Given the description of an element on the screen output the (x, y) to click on. 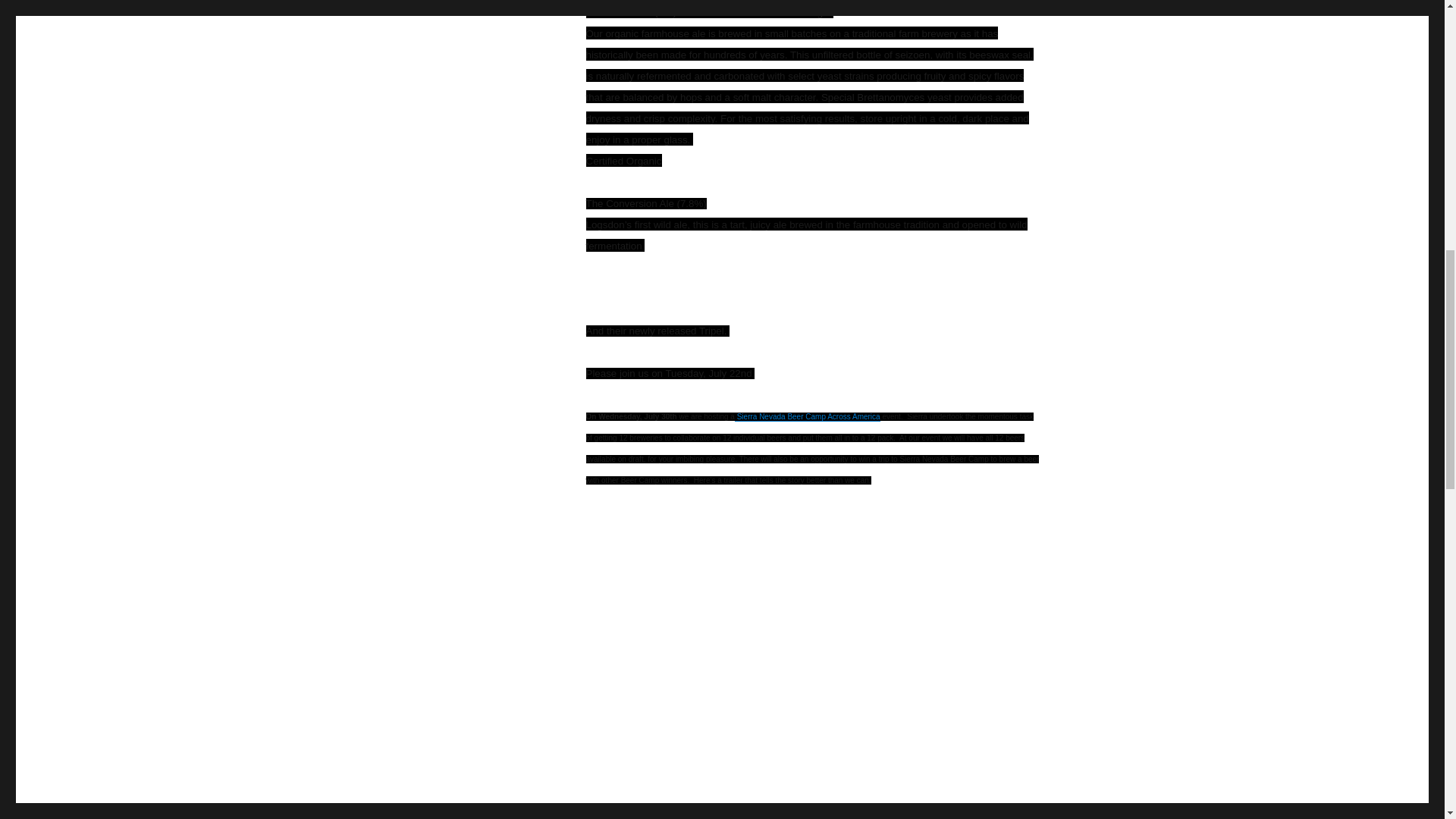
Sierra Nevada Beer Camp Across America (807, 416)
